Given the description of an element on the screen output the (x, y) to click on. 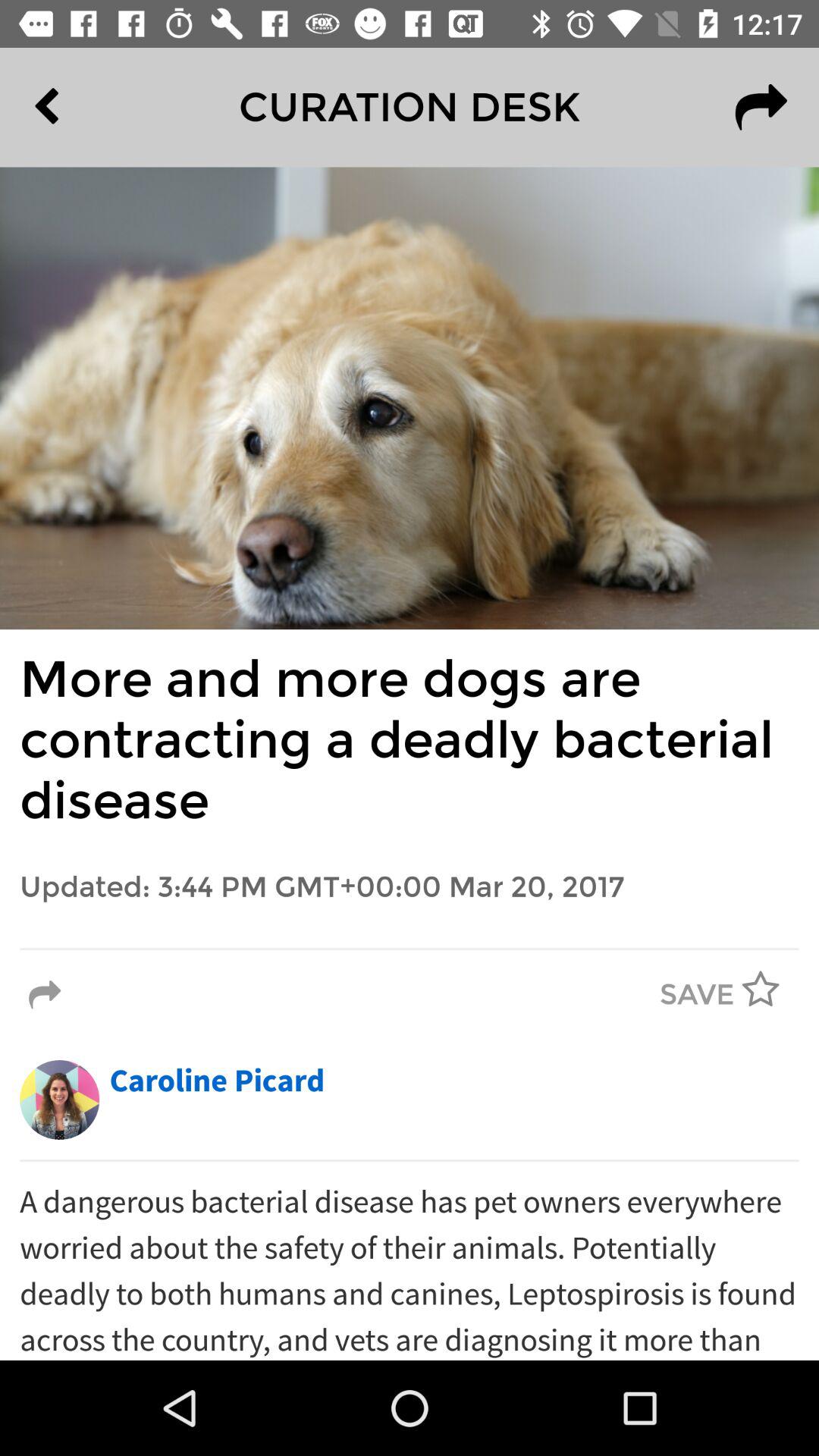
select the icon to the left of caroline picard item (59, 1099)
